Given the description of an element on the screen output the (x, y) to click on. 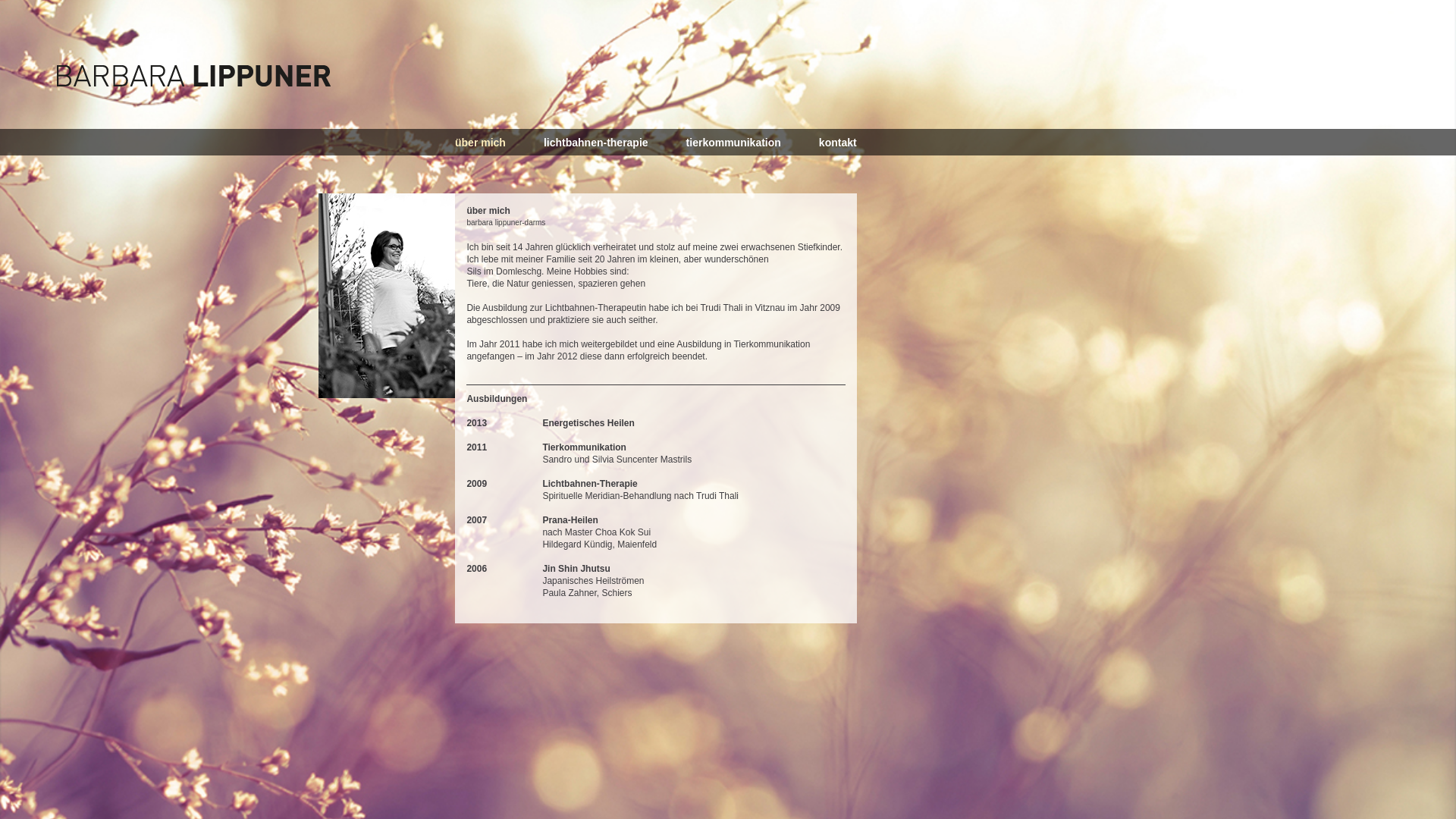
barbara lippuner Element type: hover (386, 394)
kontakt Element type: text (837, 142)
tierkommunikation Element type: text (733, 142)
lichtbahnen-therapie Element type: text (595, 142)
